Given the description of an element on the screen output the (x, y) to click on. 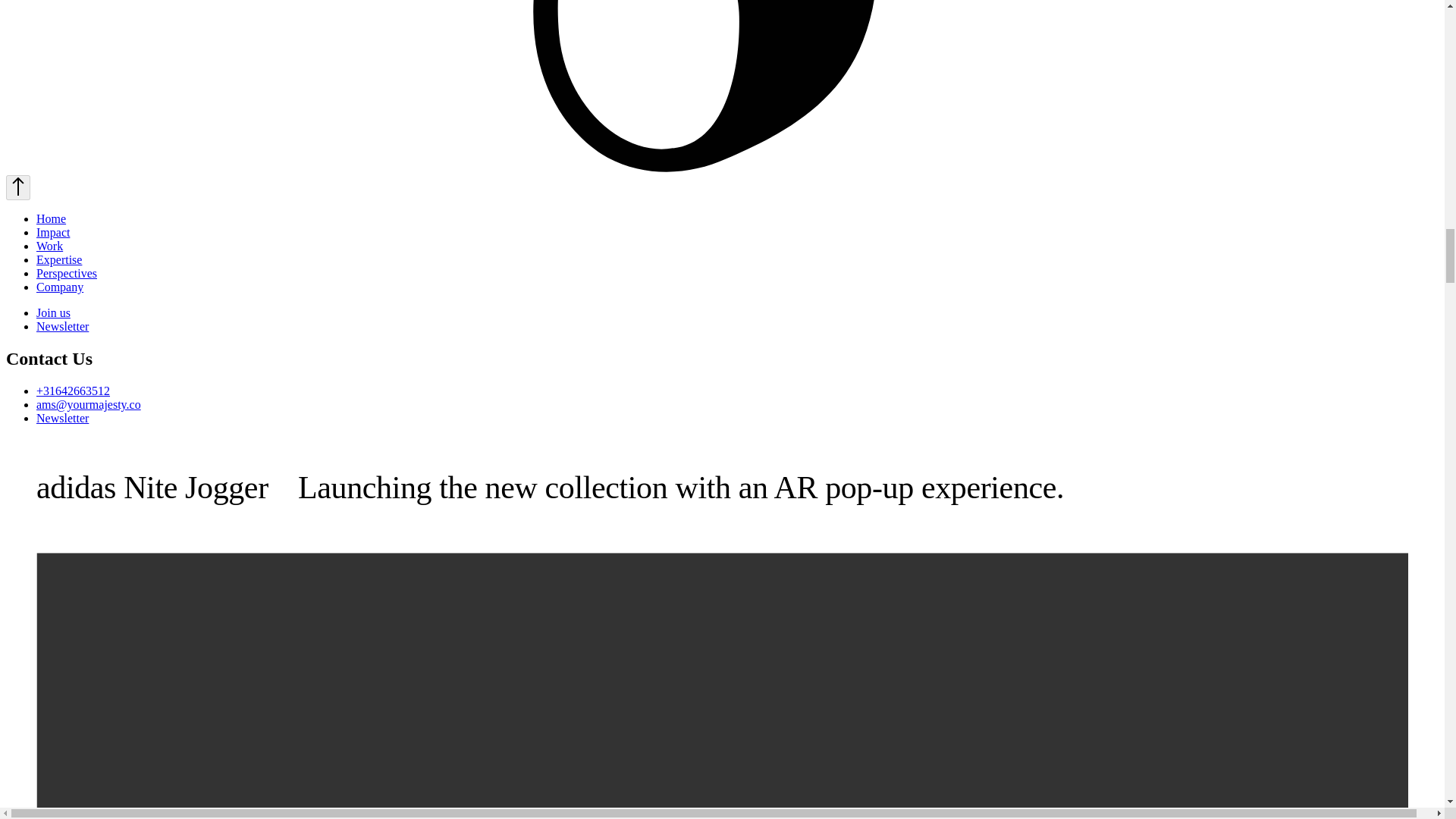
Work (49, 245)
Newsletter (62, 418)
Join us (52, 312)
Home (50, 218)
Impact (52, 232)
Newsletter (62, 326)
Expertise (58, 259)
Company (59, 286)
Perspectives (66, 273)
